Given the description of an element on the screen output the (x, y) to click on. 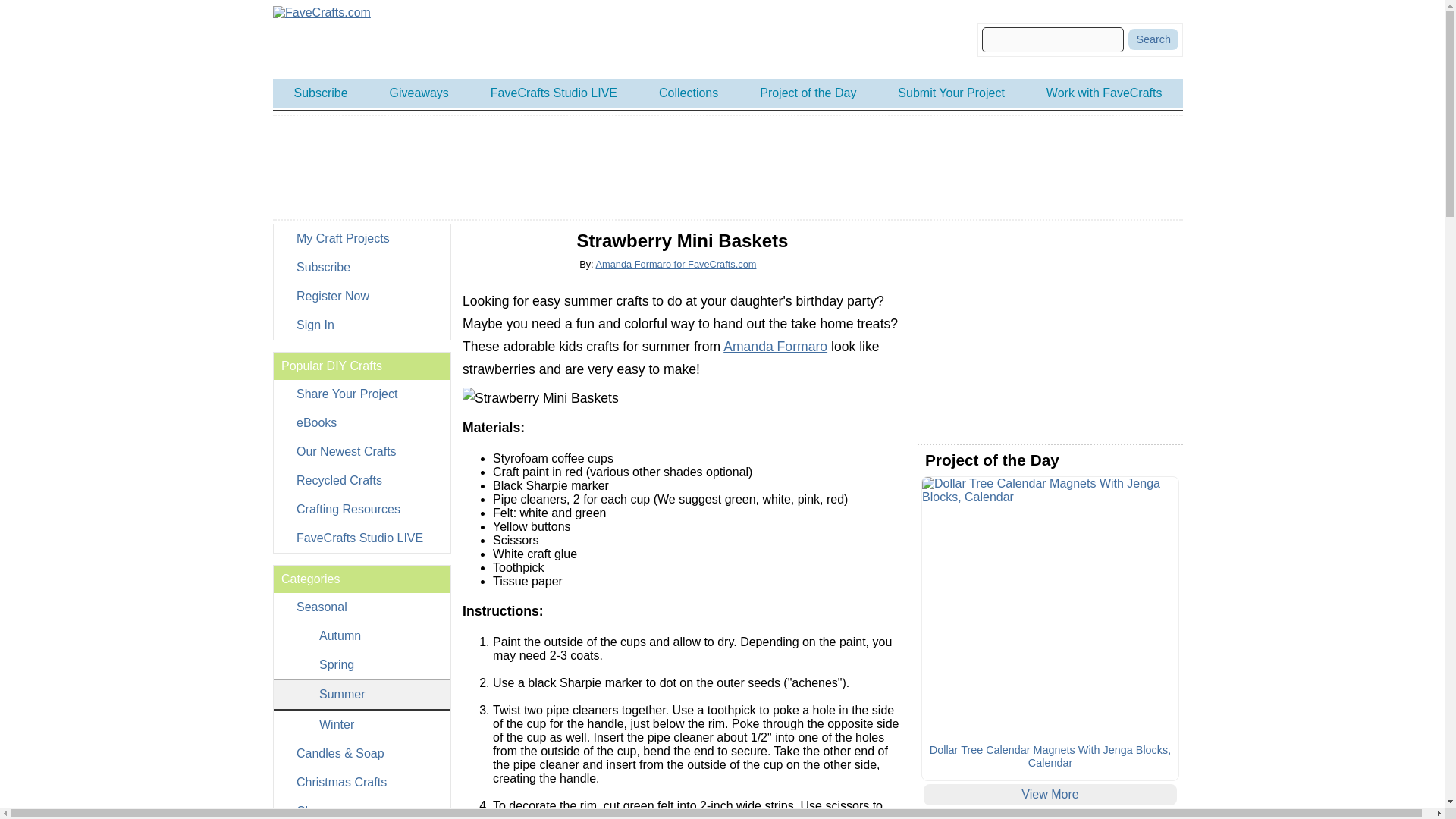
Subscribe (361, 267)
Search (1152, 38)
Sign In (361, 325)
Register Now (361, 296)
My Craft Projects (361, 238)
